Given the description of an element on the screen output the (x, y) to click on. 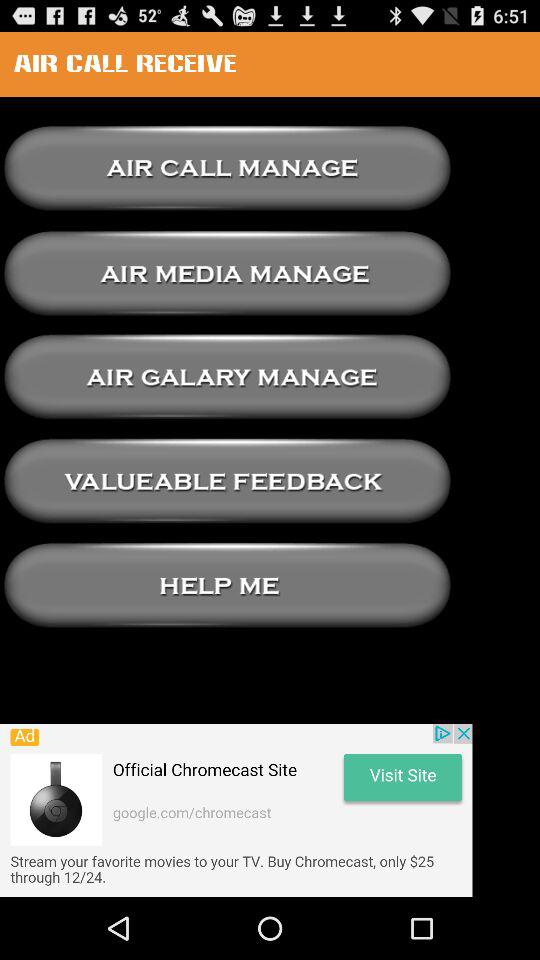
go to the advertisement (236, 810)
